Given the description of an element on the screen output the (x, y) to click on. 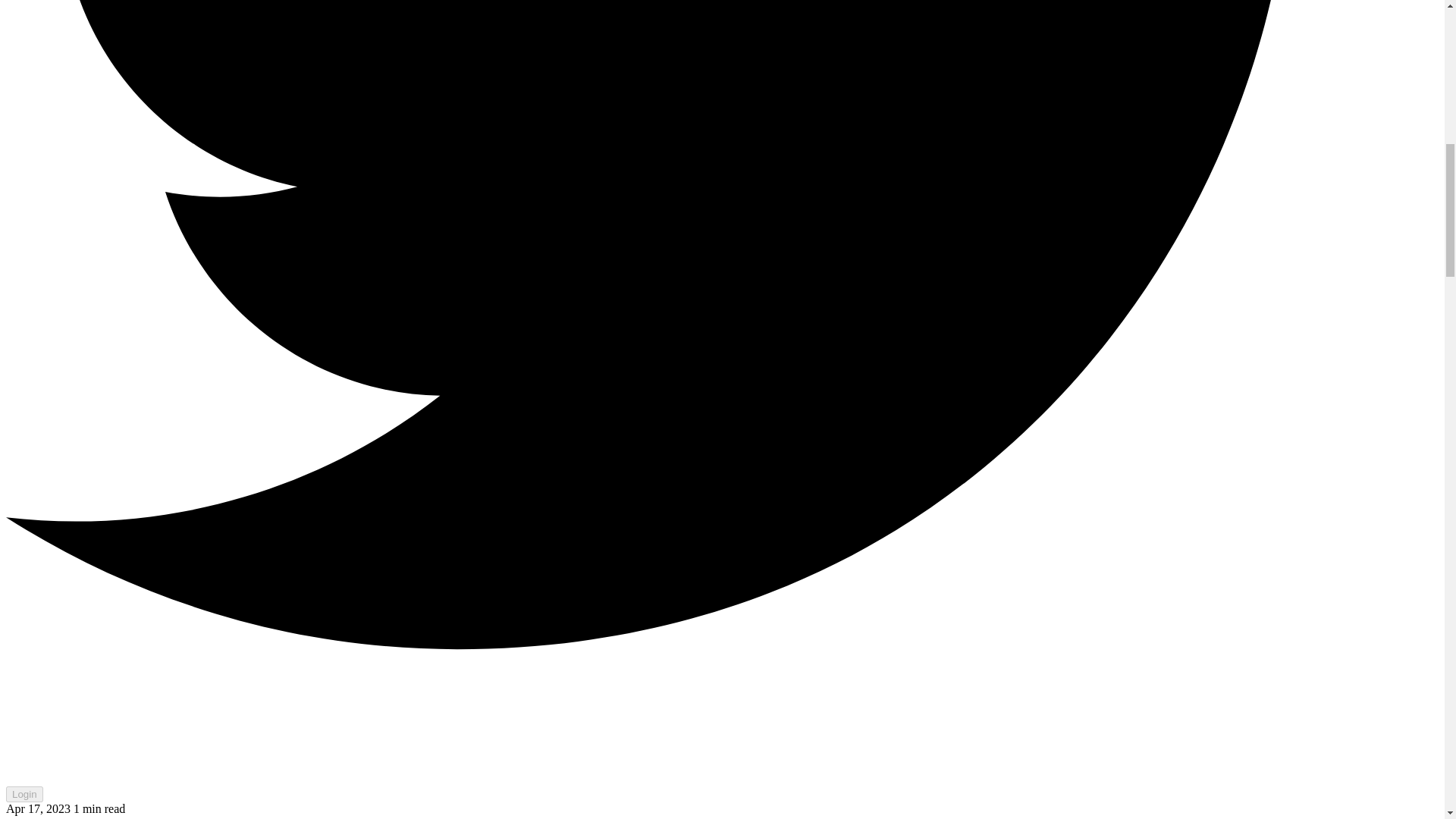
Login (24, 794)
